Given the description of an element on the screen output the (x, y) to click on. 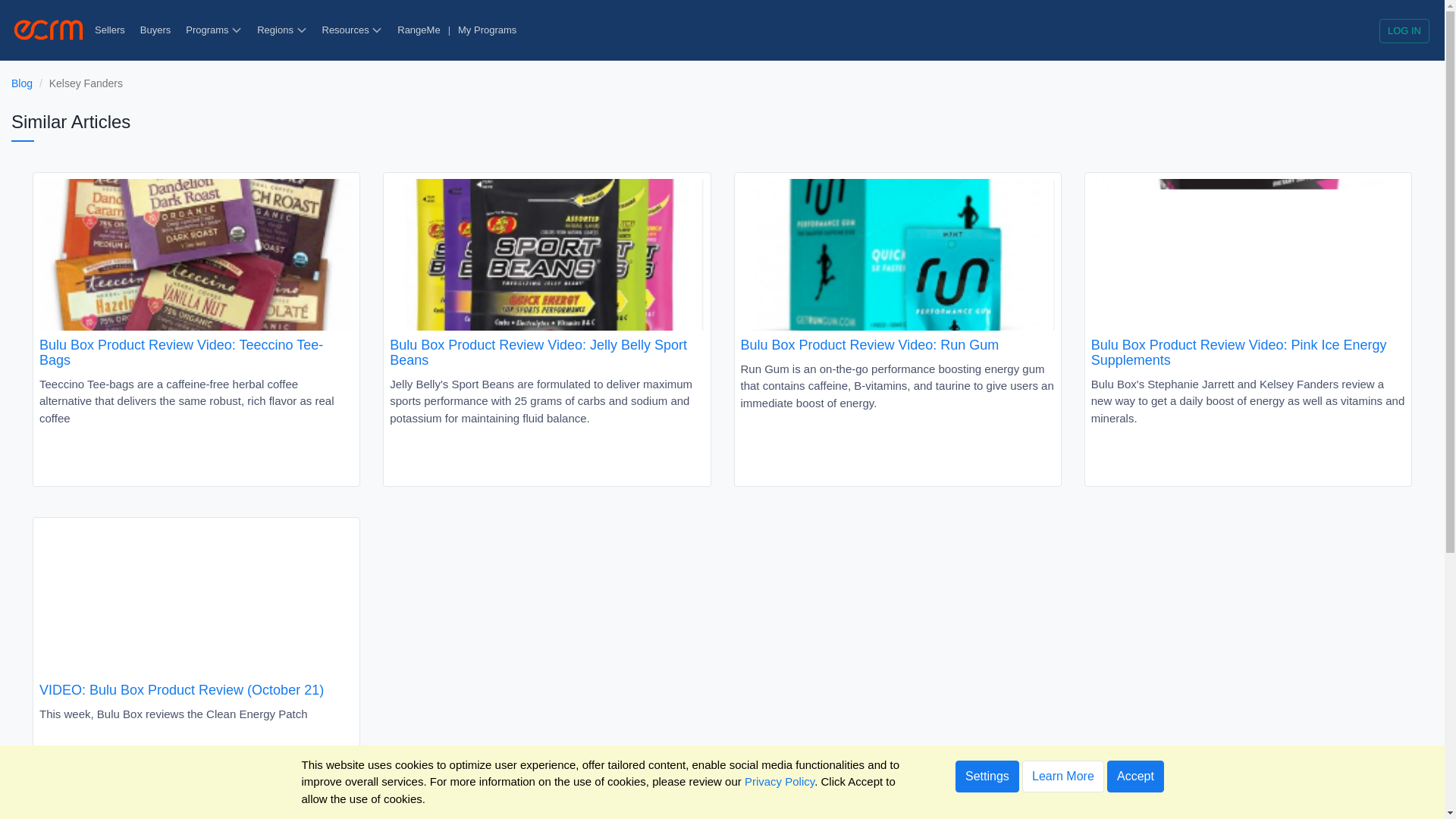
Buyers (154, 29)
Programs  (212, 29)
Resources  (352, 29)
Blog (21, 82)
Sellers (109, 29)
LOG IN (1403, 30)
My Programs (486, 29)
Bulu Box Product Review Video: Jelly Belly Sport Beans (546, 273)
Regions  (281, 29)
Bulu Box Product Review Video: Run Gum (896, 265)
